Given the description of an element on the screen output the (x, y) to click on. 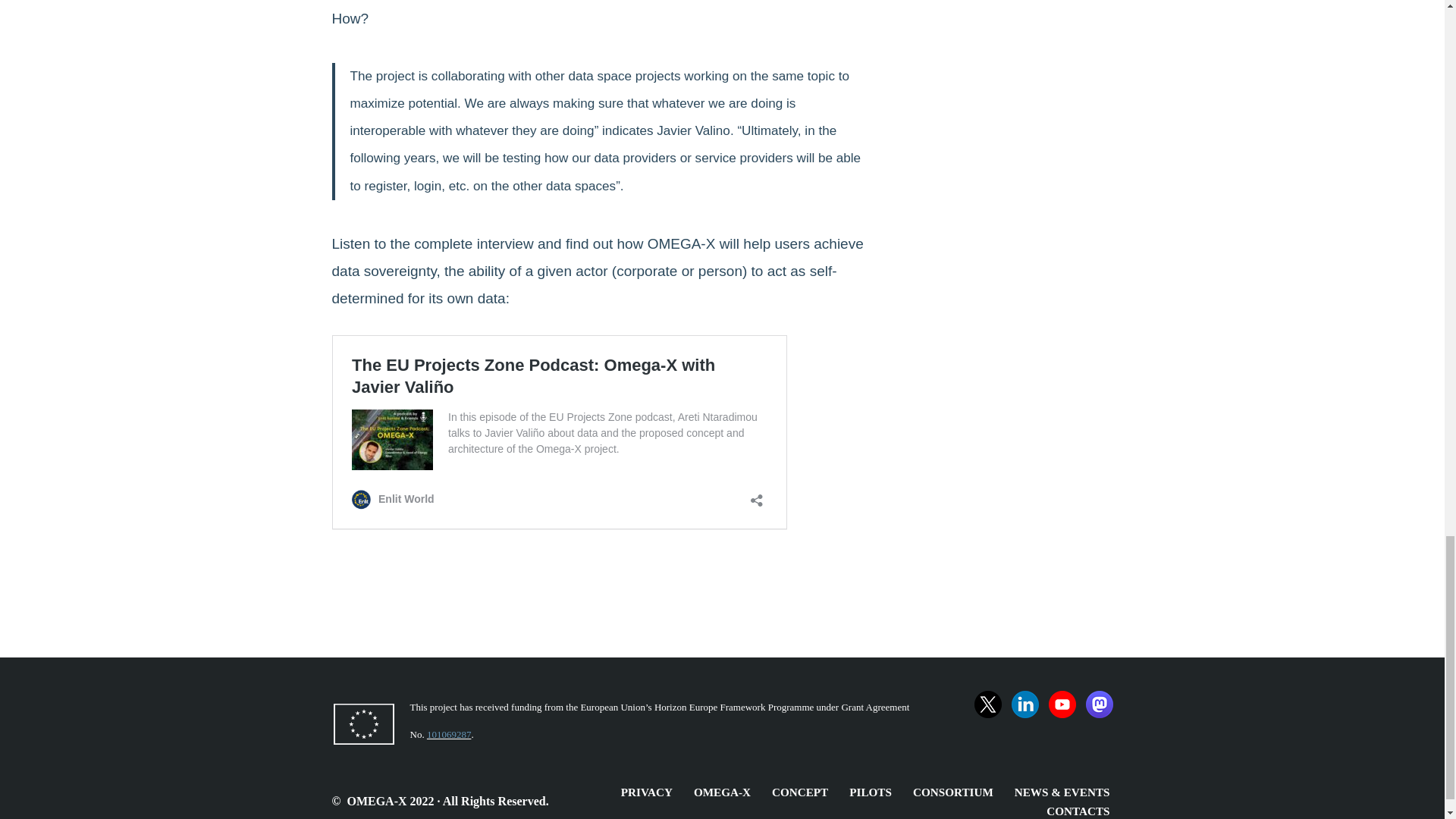
101069287 (448, 734)
